Given the description of an element on the screen output the (x, y) to click on. 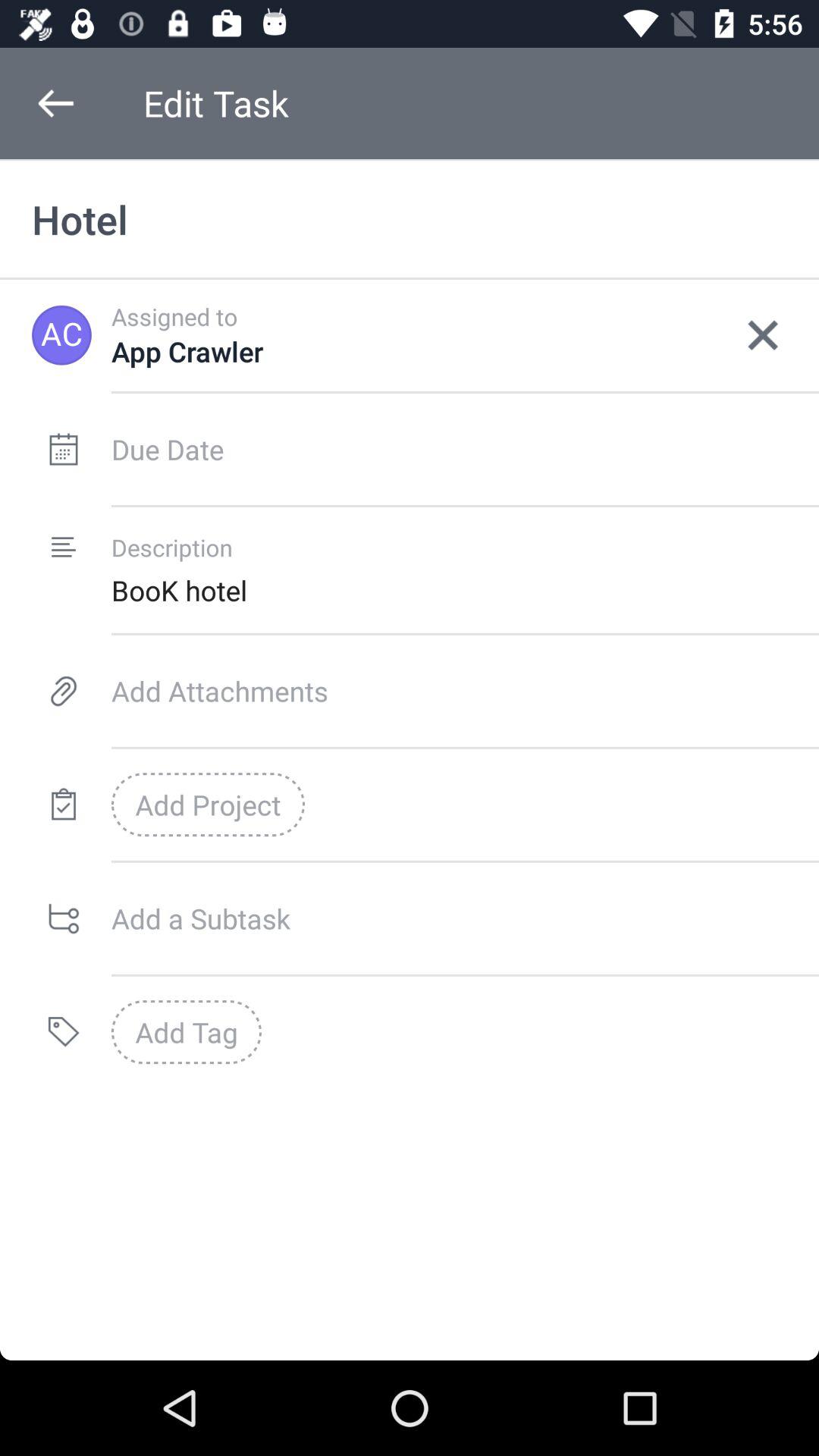
tap the icon above add tag icon (465, 918)
